Given the description of an element on the screen output the (x, y) to click on. 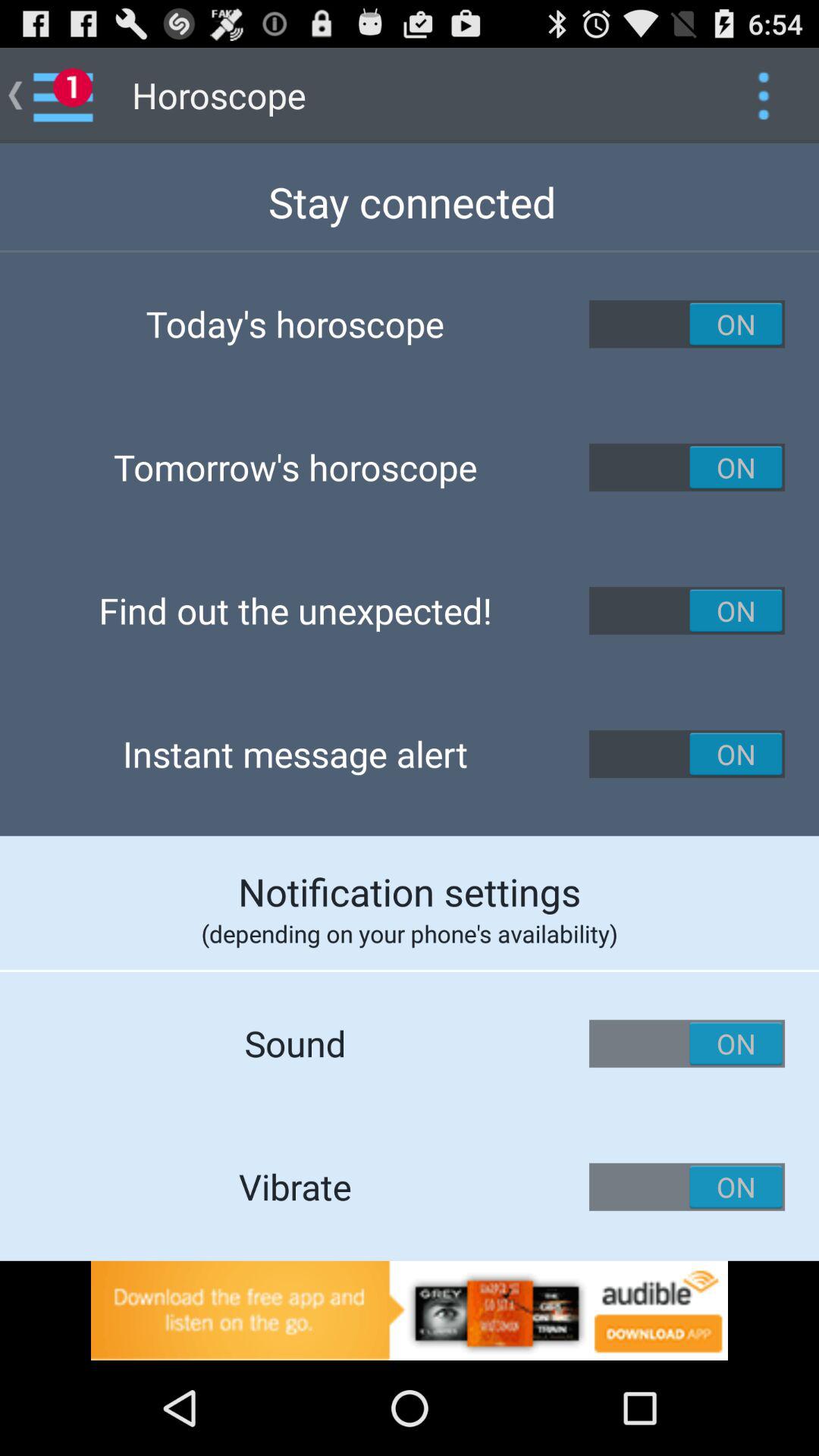
stay connected on or off user (686, 324)
